Given the description of an element on the screen output the (x, y) to click on. 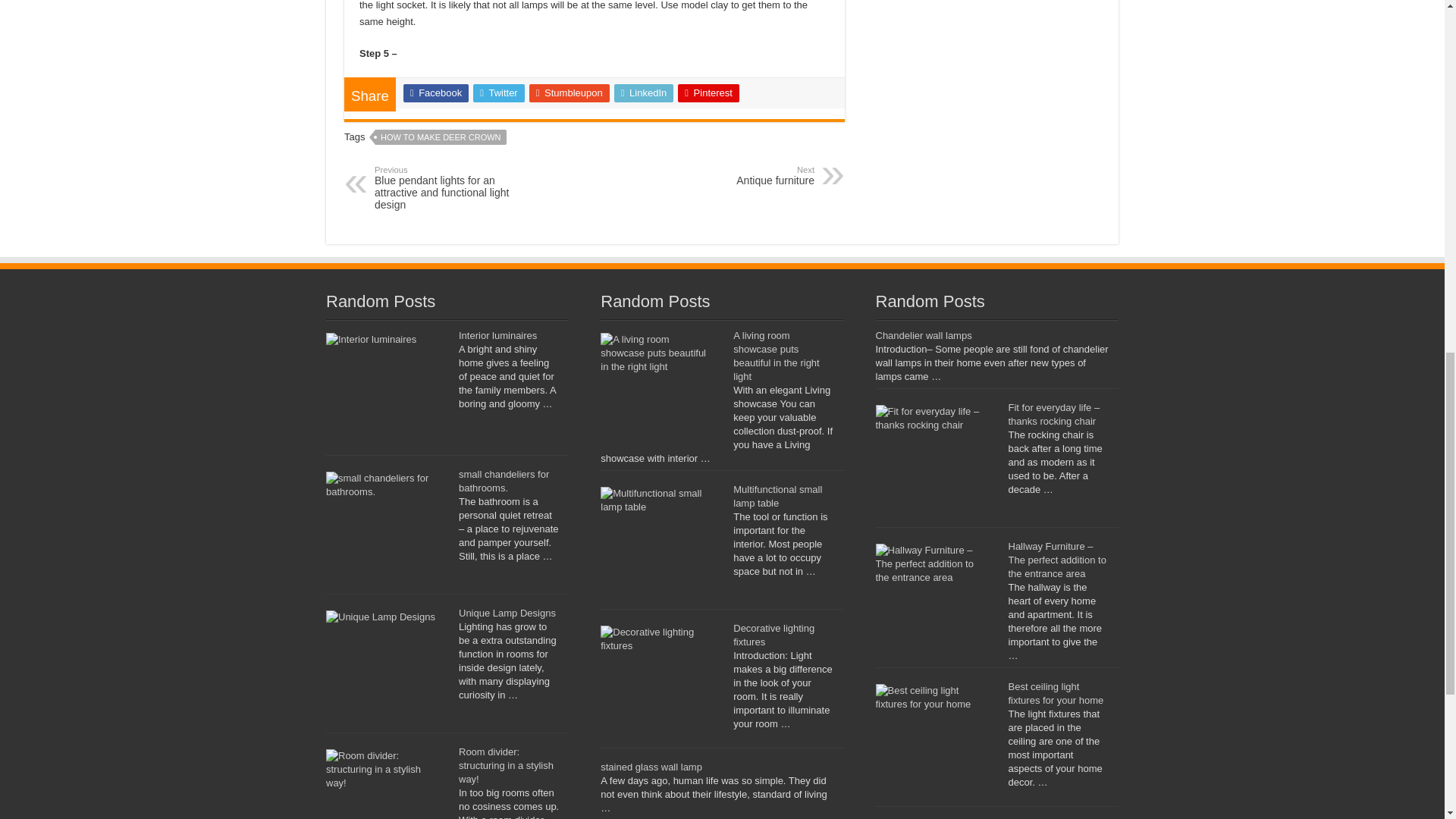
Stumbleupon (569, 93)
HOW TO MAKE DEER CROWN (440, 136)
LinkedIn (644, 93)
Decorative lighting fixtures (773, 634)
Scroll To Top (1421, 60)
Multifunctional small lamp table (777, 496)
A living room showcase puts beautiful in the right light (775, 356)
Facebook (435, 93)
Unique Lamp Designs (507, 613)
stained glass wall lamp (736, 175)
Interior luminaires (650, 767)
Room divider: structuring in a stylish way! (497, 335)
small chandeliers for bathrooms. (505, 765)
